Given the description of an element on the screen output the (x, y) to click on. 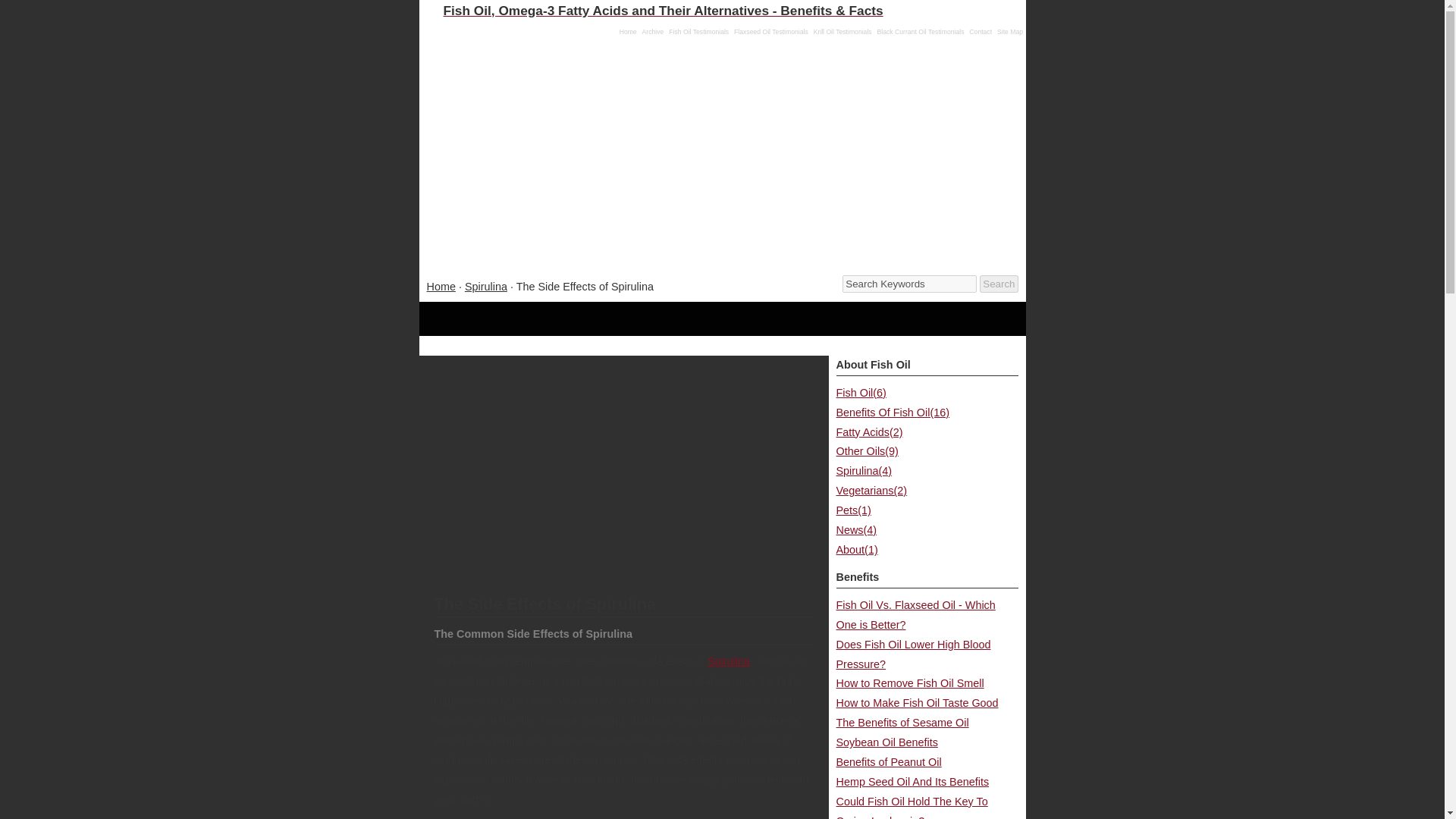
Benefits of Peanut Oil (887, 761)
Fish Oil Vs. Flaxseed Oil - Which One is Better? (914, 614)
Home (628, 31)
Vegetarians - Fish oil alternatives for vegetarians. (871, 490)
Black Currant Oil Testimonials (920, 31)
Search Keywords (909, 283)
Soybean Oil Benefits (886, 742)
Archive (652, 31)
Search Keywords (909, 283)
Home (440, 286)
Spirulina (485, 286)
Site Map (1010, 31)
Could Fish Oil Hold The Key To Curing Leukemia? (911, 807)
Search (998, 283)
